Given the description of an element on the screen output the (x, y) to click on. 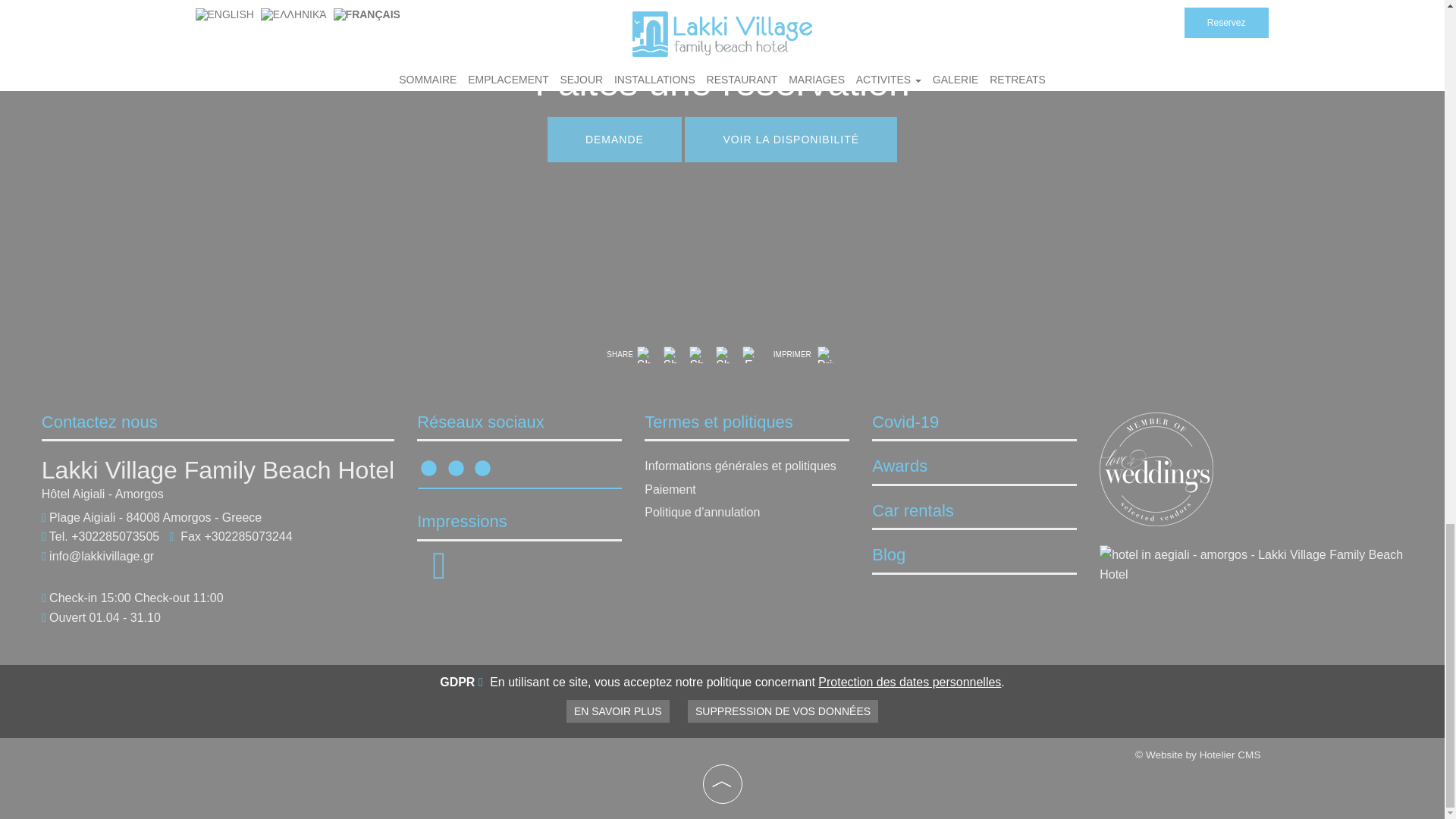
Contactez nous (99, 421)
Impressions (438, 574)
IMPRIMER (805, 354)
DEMANDE (614, 139)
